Given the description of an element on the screen output the (x, y) to click on. 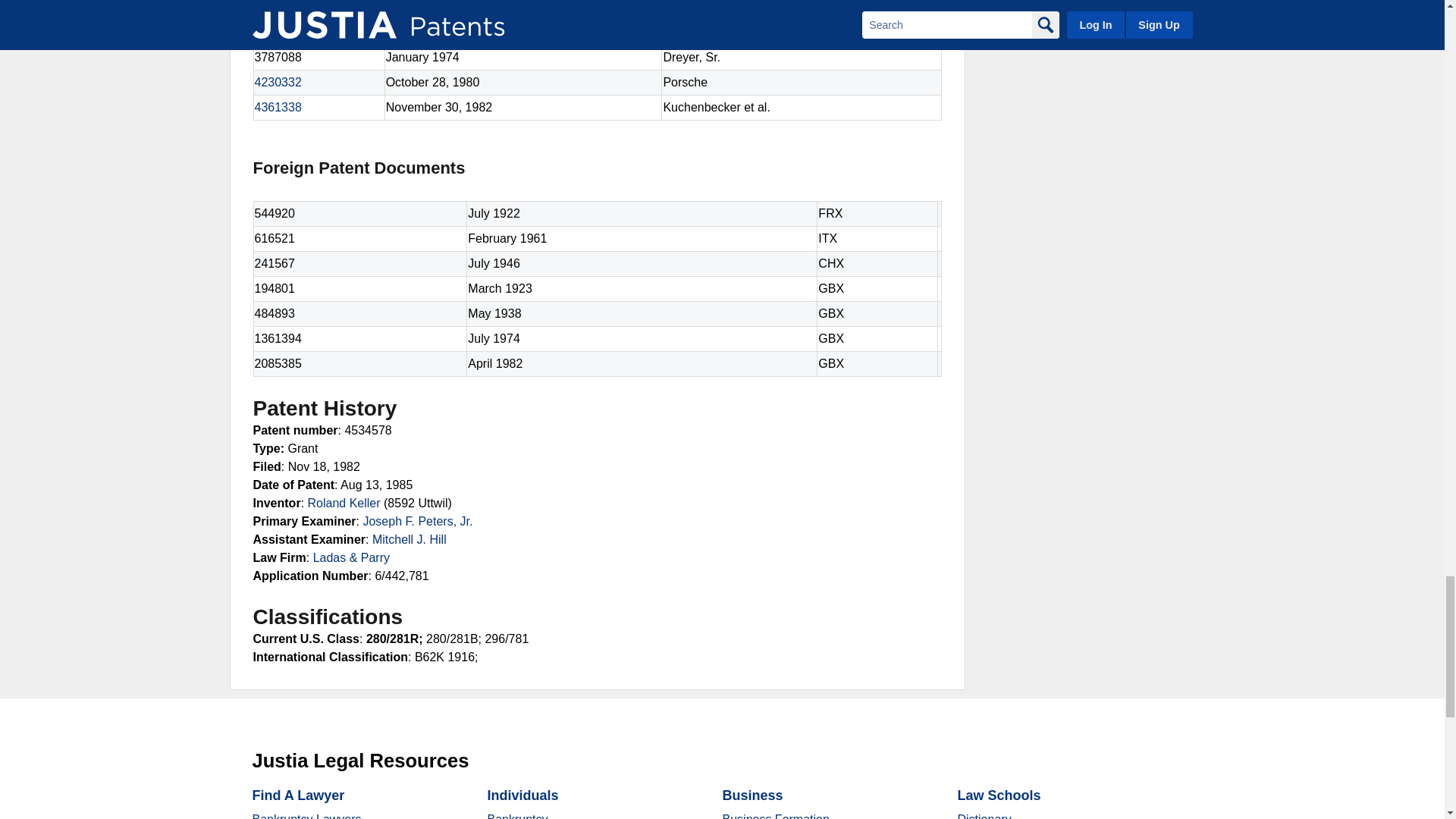
Roland Keller (343, 502)
Joseph F. Peters, Jr. (416, 521)
4230332 (277, 82)
Mitchell J. Hill (409, 539)
4361338 (277, 106)
